Given the description of an element on the screen output the (x, y) to click on. 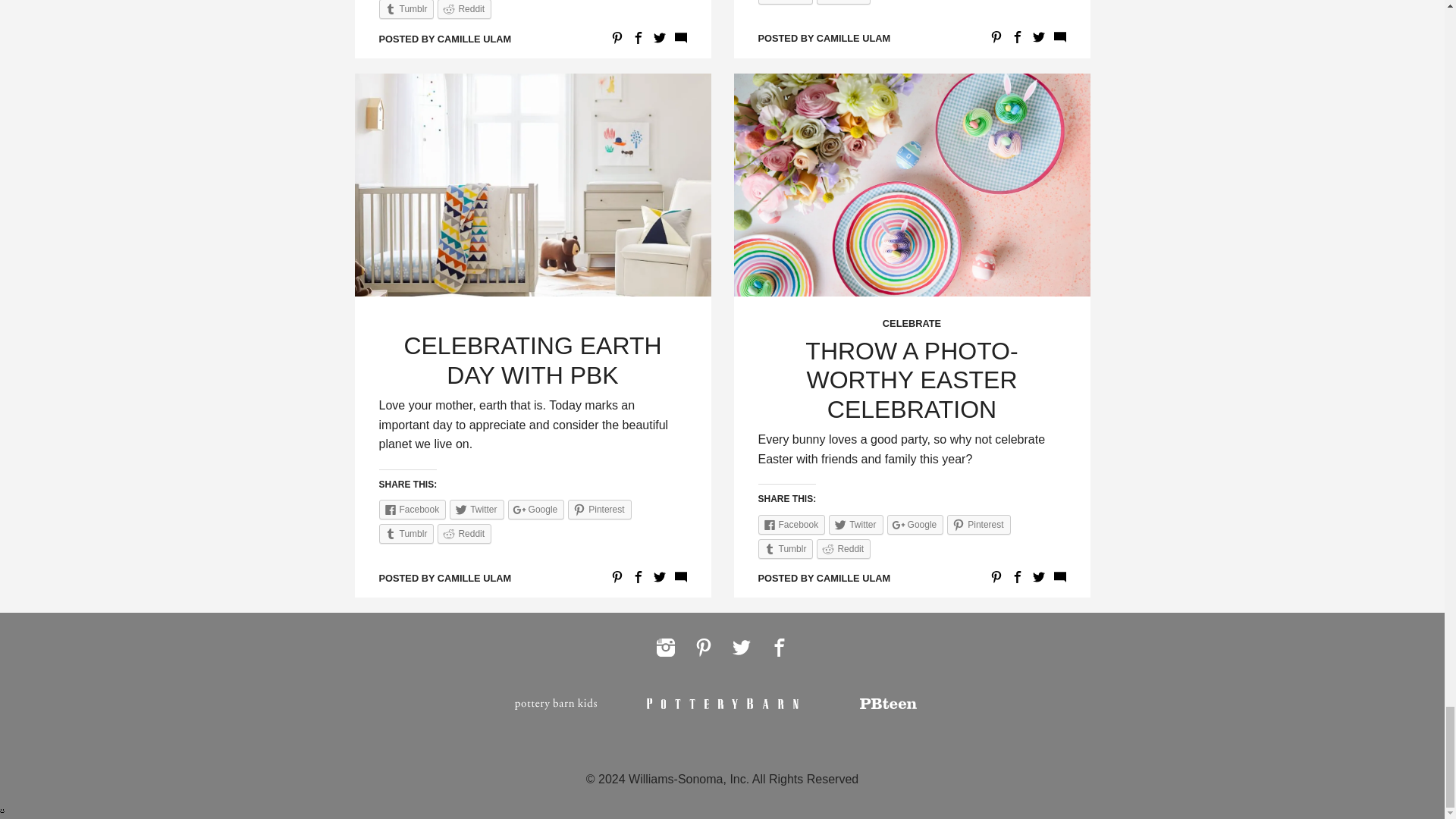
Click to share on Tumblr (785, 2)
Click to share on Tumblr (405, 9)
Click to share on Reddit (465, 9)
Click to share on Reddit (843, 2)
